Given the description of an element on the screen output the (x, y) to click on. 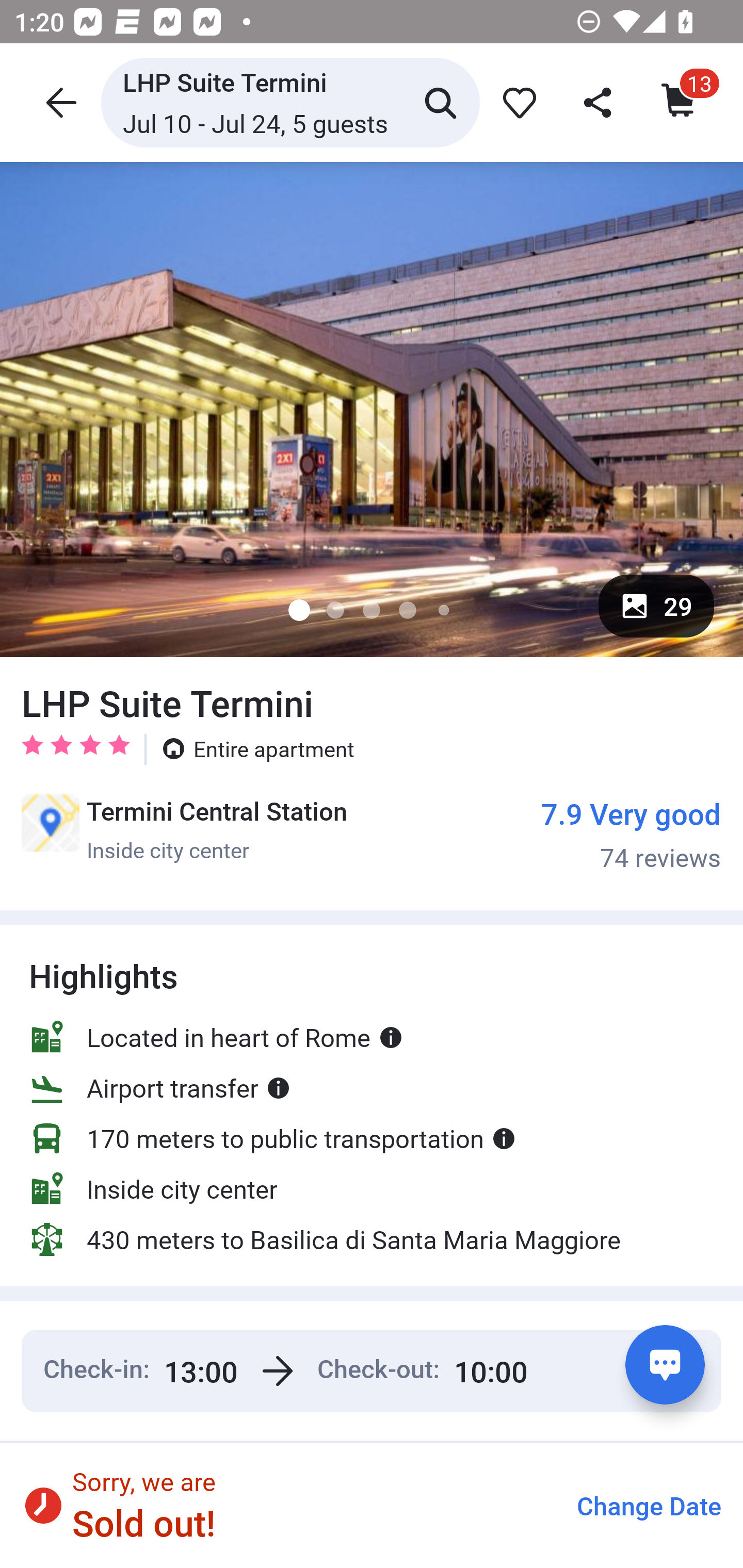
header icon (59, 102)
favorite_icon 0dbe6efb (515, 102)
share_header_icon (598, 102)
Cart icon cart_item_count 13 (679, 102)
image (371, 408)
29 (656, 605)
Termini Central Station Inside city center (184, 829)
7.9 Very good 74 reviews (630, 834)
Located in heart of Rome (215, 1037)
170 meters to public transportation (272, 1138)
Change Date (648, 1505)
